Given the description of an element on the screen output the (x, y) to click on. 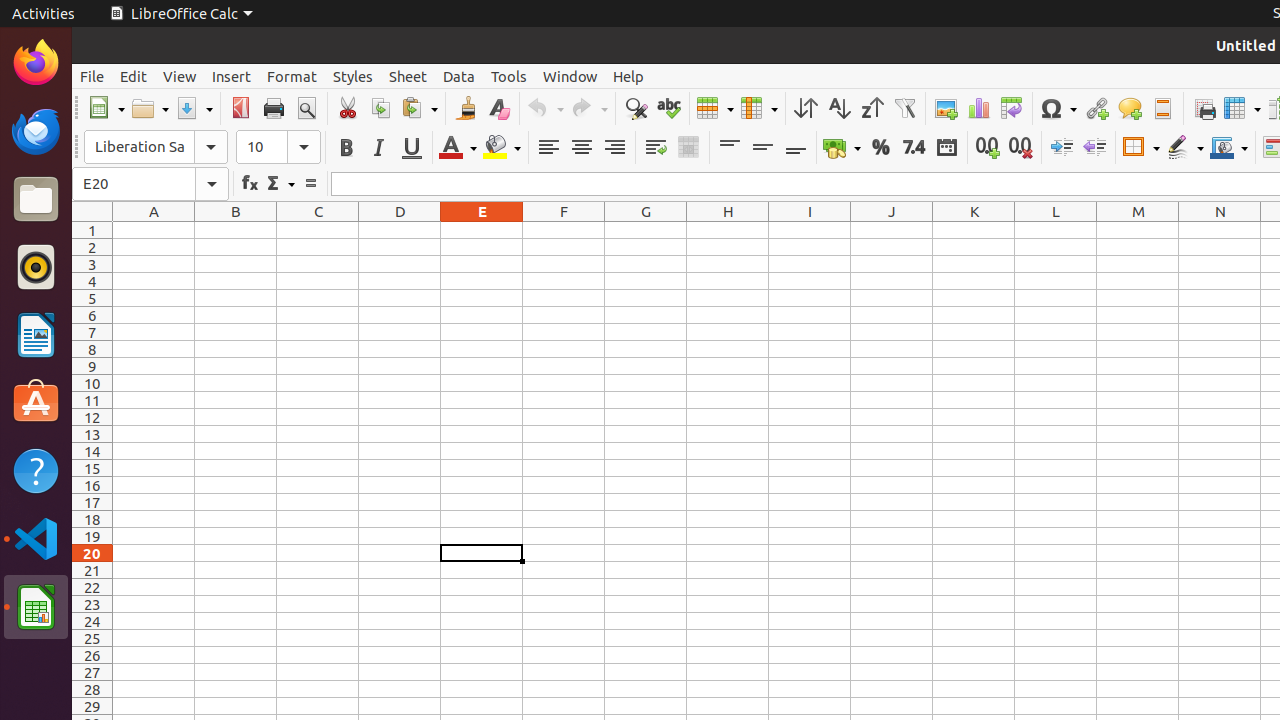
Font Size Element type: combo-box (278, 147)
Italic Element type: toggle-button (378, 147)
Pivot Table Element type: push-button (1011, 108)
Print Area Element type: push-button (1203, 108)
Align Left Element type: push-button (548, 147)
